Given the description of an element on the screen output the (x, y) to click on. 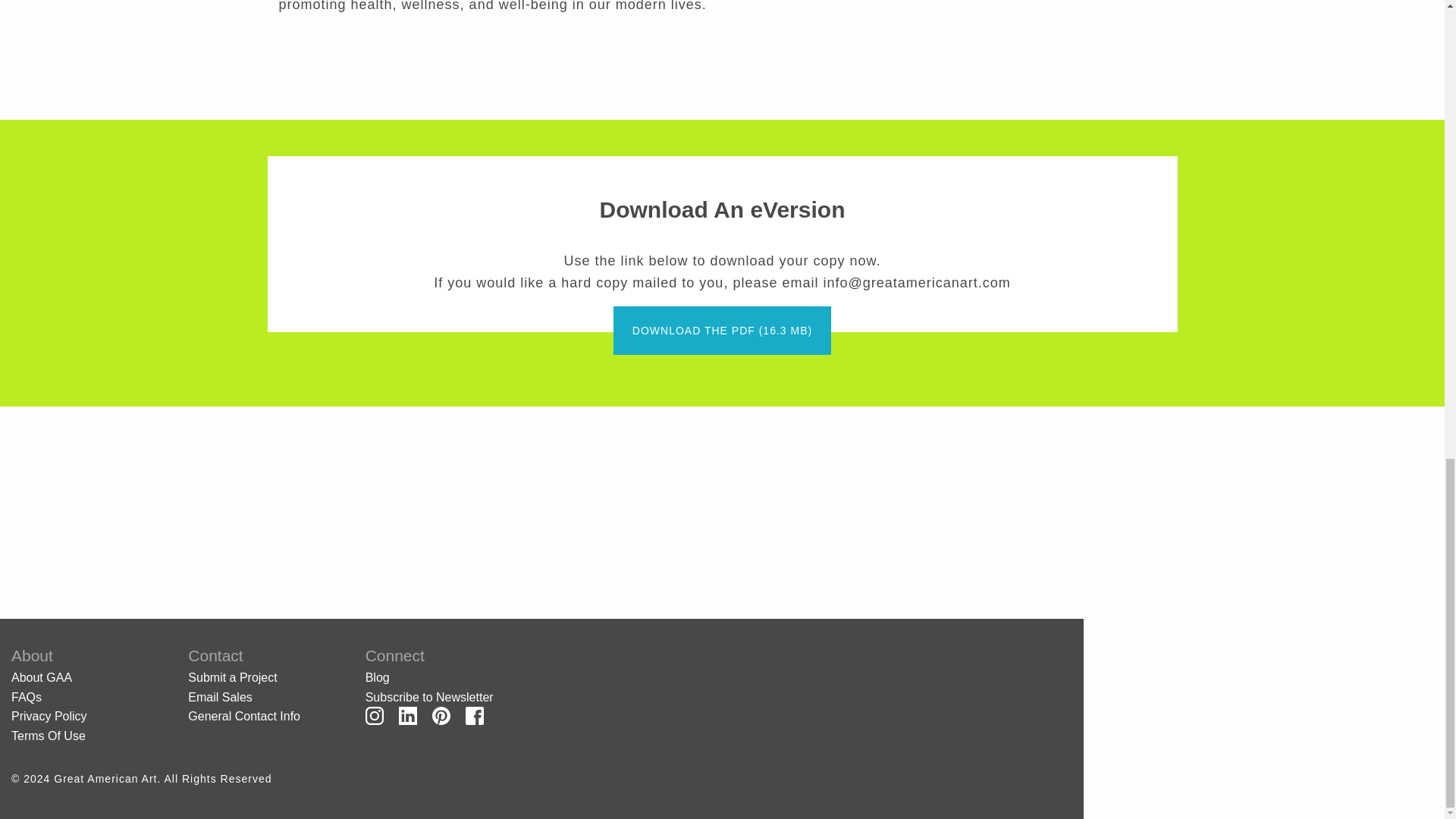
Pinterest (439, 714)
Instagram (374, 715)
LinkedIn (407, 715)
